Given the description of an element on the screen output the (x, y) to click on. 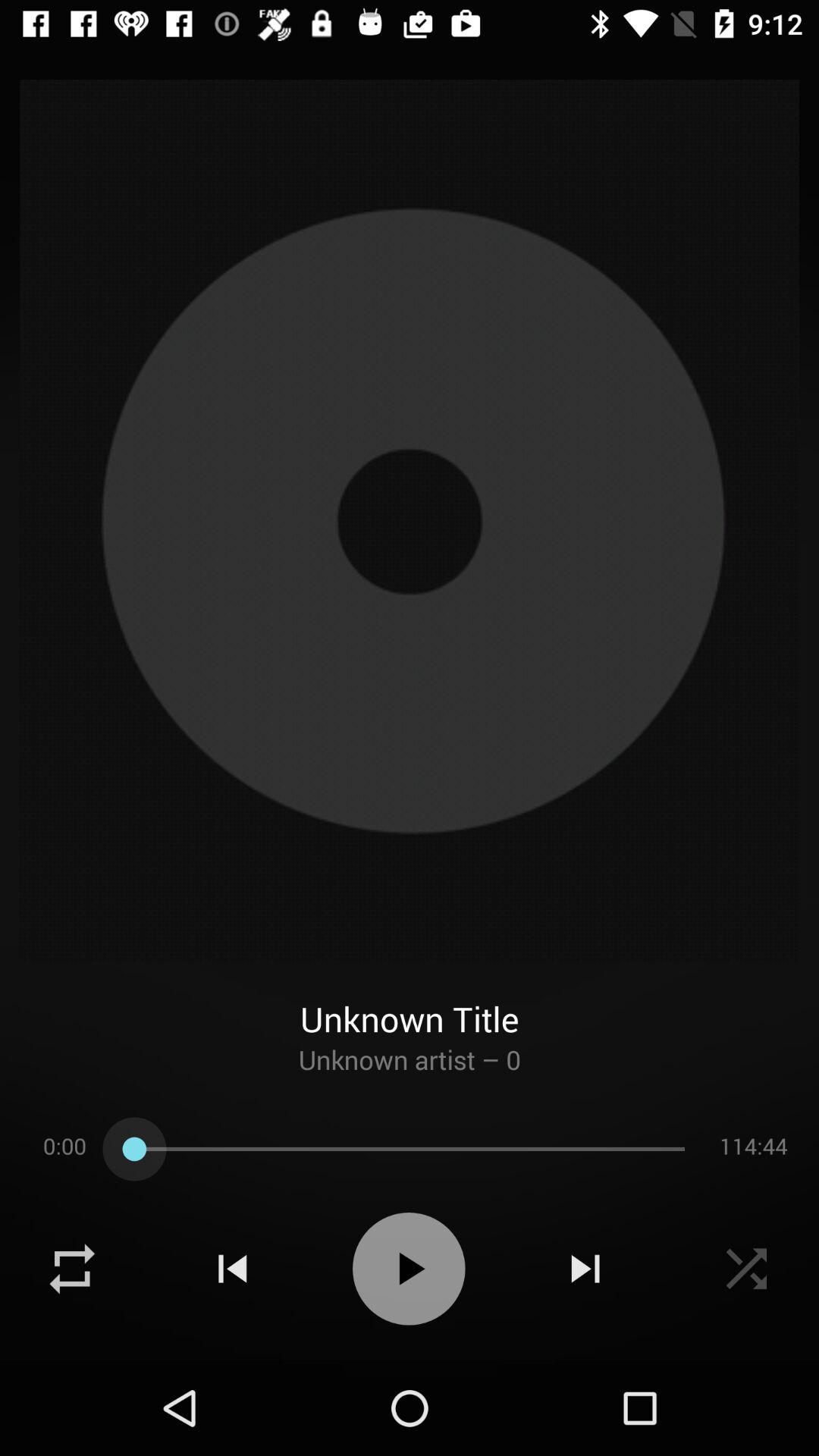
press the unknown title icon (409, 1001)
